Given the description of an element on the screen output the (x, y) to click on. 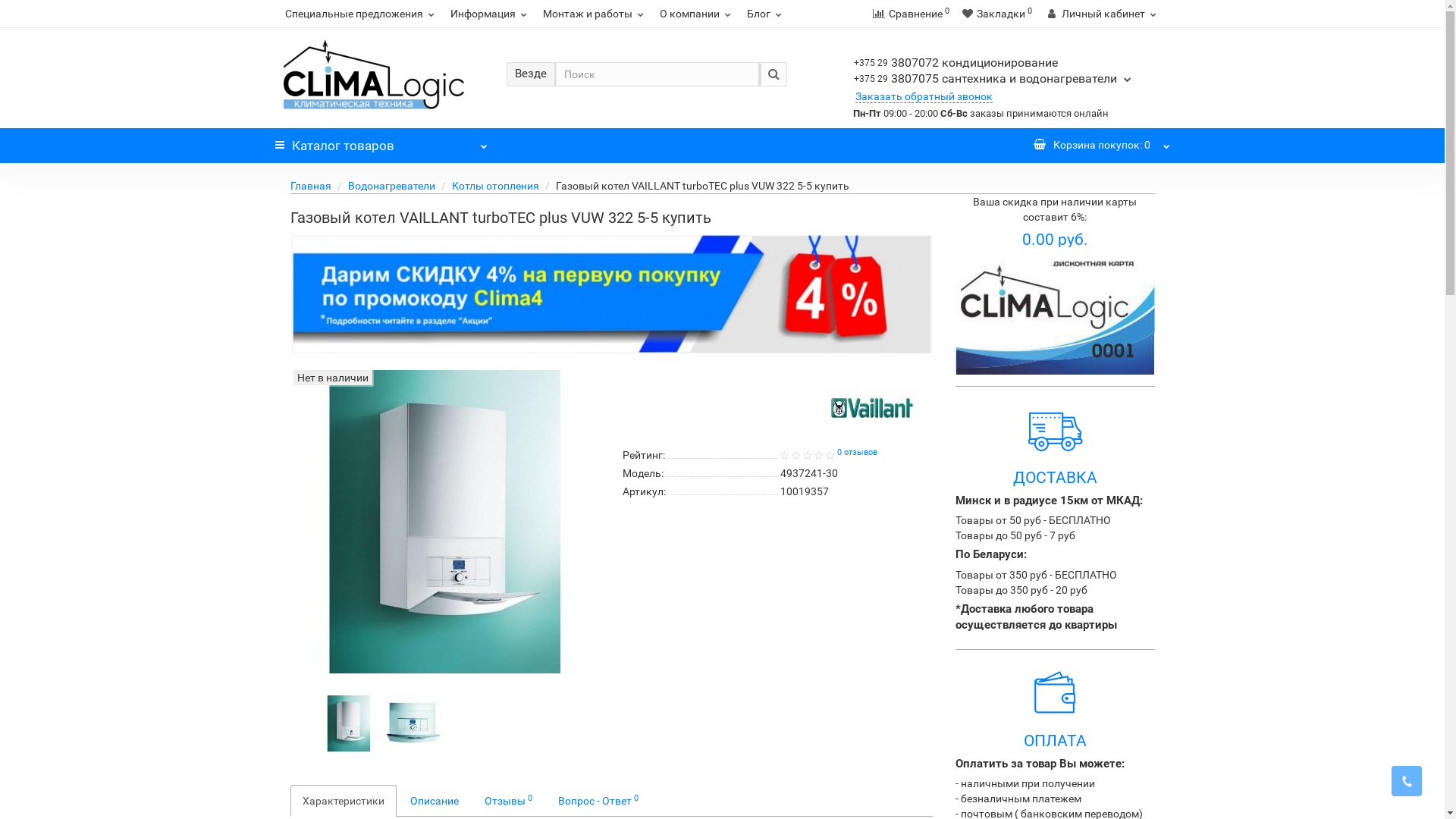
Climalogic.by Element type: hover (373, 73)
